Given the description of an element on the screen output the (x, y) to click on. 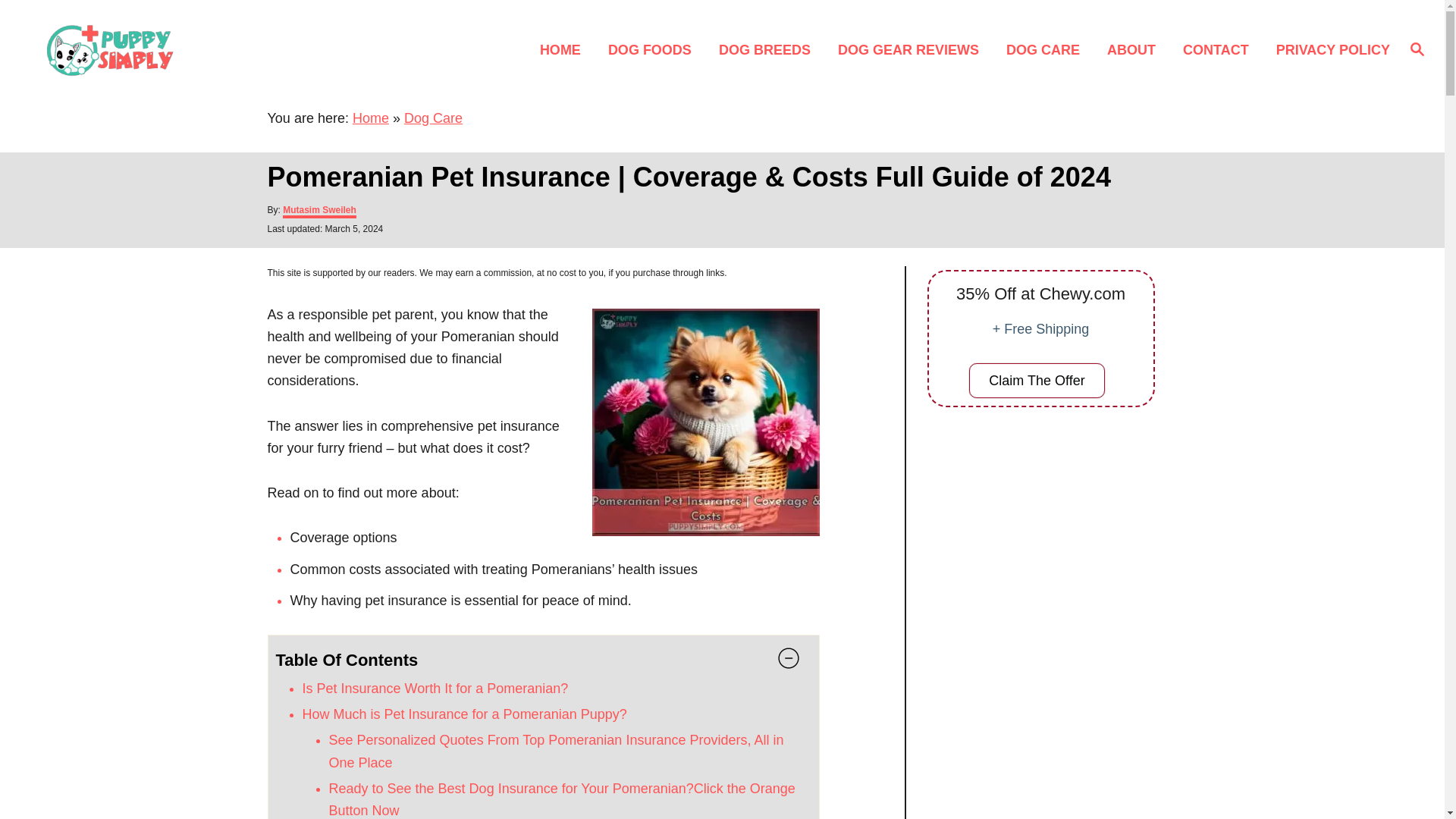
How Much is Pet Insurance for a Pomeranian Puppy? (463, 713)
Is Pet Insurance Worth It for a Pomeranian? (434, 688)
DOG FOODS (654, 49)
Mutasim Sweileh (319, 211)
PRIVACY POLICY (1328, 49)
ABOUT (1135, 49)
DOG GEAR REVIEWS (912, 49)
HOME (564, 49)
Home (370, 118)
CONTACT (1219, 49)
Magnifying Glass (1416, 48)
Dog Care (433, 118)
DOG BREEDS (769, 49)
